Given the description of an element on the screen output the (x, y) to click on. 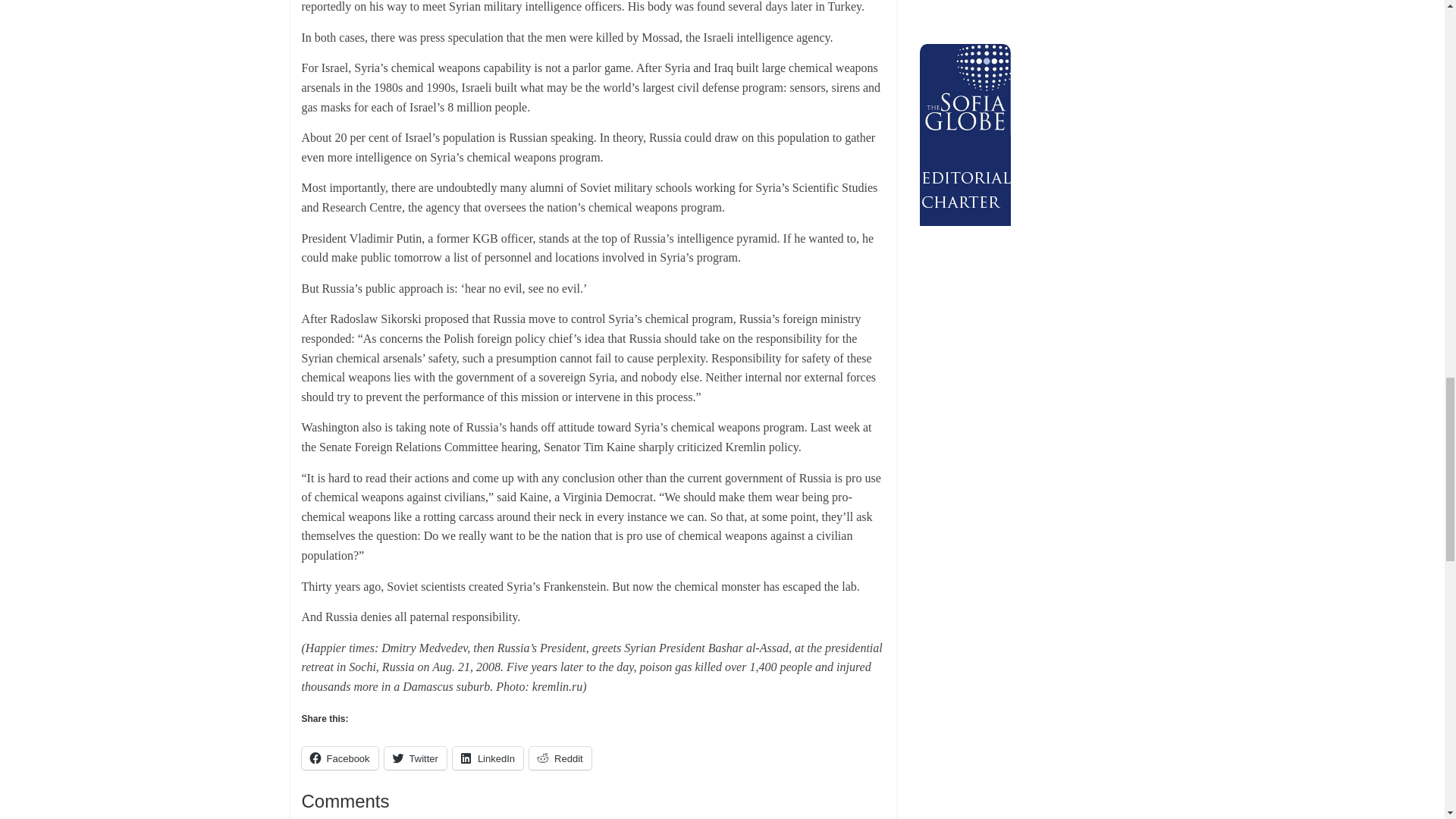
Facebook (339, 757)
Twitter (415, 757)
Click to share on LinkedIn (487, 757)
Click to share on Twitter (415, 757)
Click to share on Reddit (560, 757)
Reddit (560, 757)
Click to share on Facebook (339, 757)
LinkedIn (487, 757)
